Given the description of an element on the screen output the (x, y) to click on. 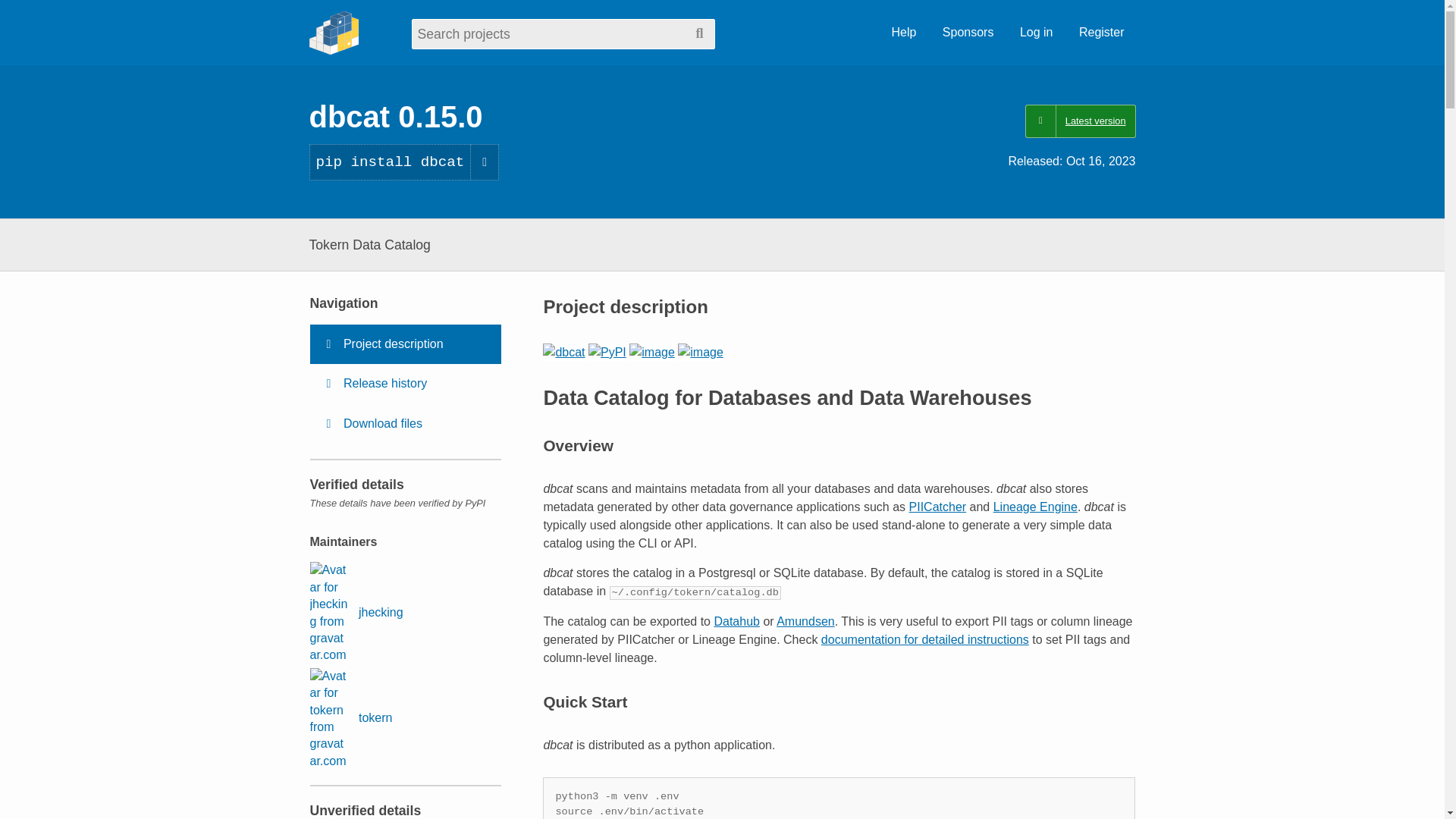
Latest version (1080, 121)
Register (1101, 32)
jhecking (355, 612)
Project description (404, 343)
Search (699, 33)
Download files (404, 423)
Release history (404, 383)
Sponsors (968, 32)
